Given the description of an element on the screen output the (x, y) to click on. 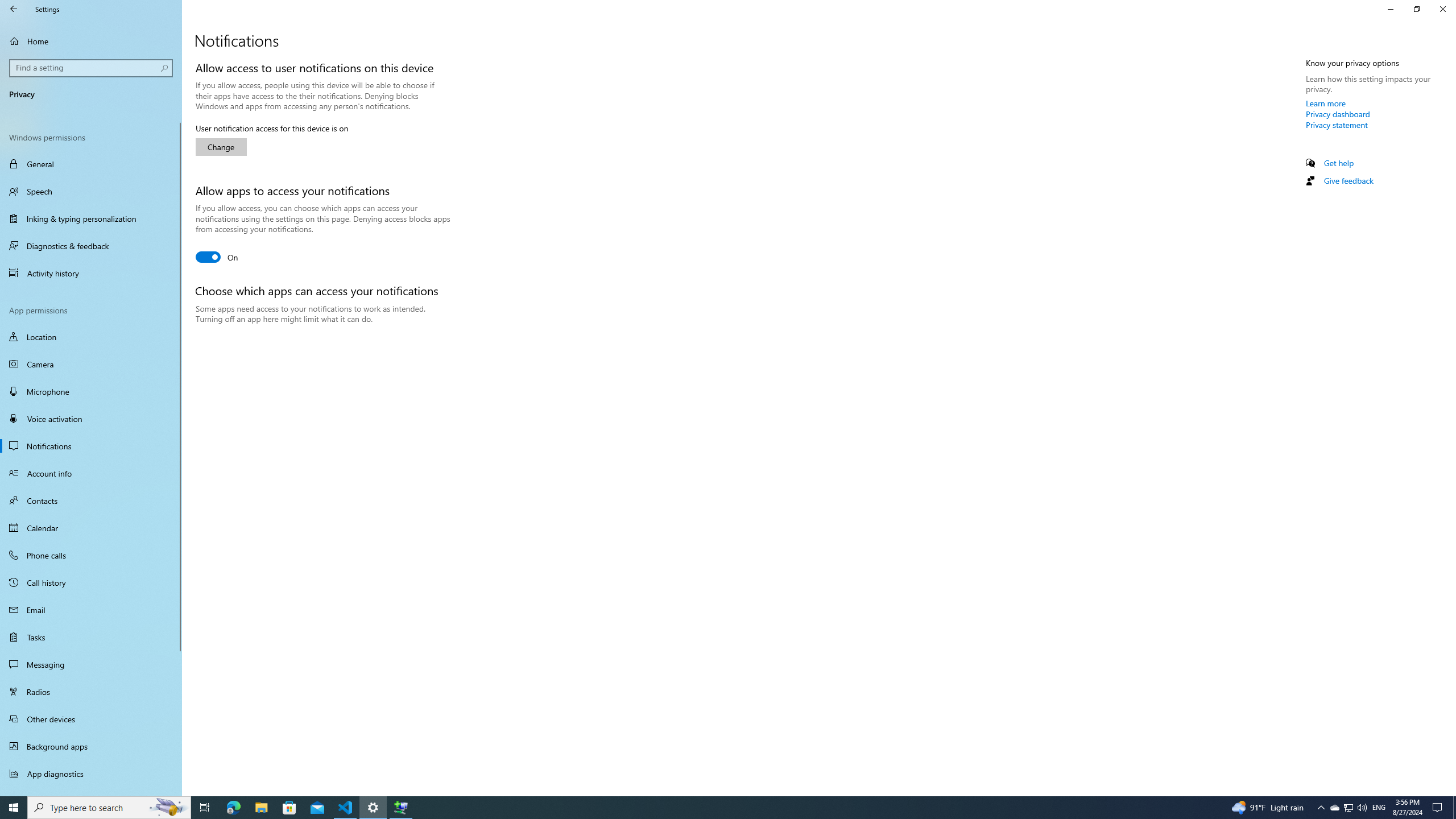
Extensible Wizards Host Process - 1 running window (400, 807)
Contacts (91, 500)
Phone calls (91, 554)
Speech (91, 190)
Privacy dashboard (1338, 113)
Other devices (91, 718)
Background apps (91, 746)
